Given the description of an element on the screen output the (x, y) to click on. 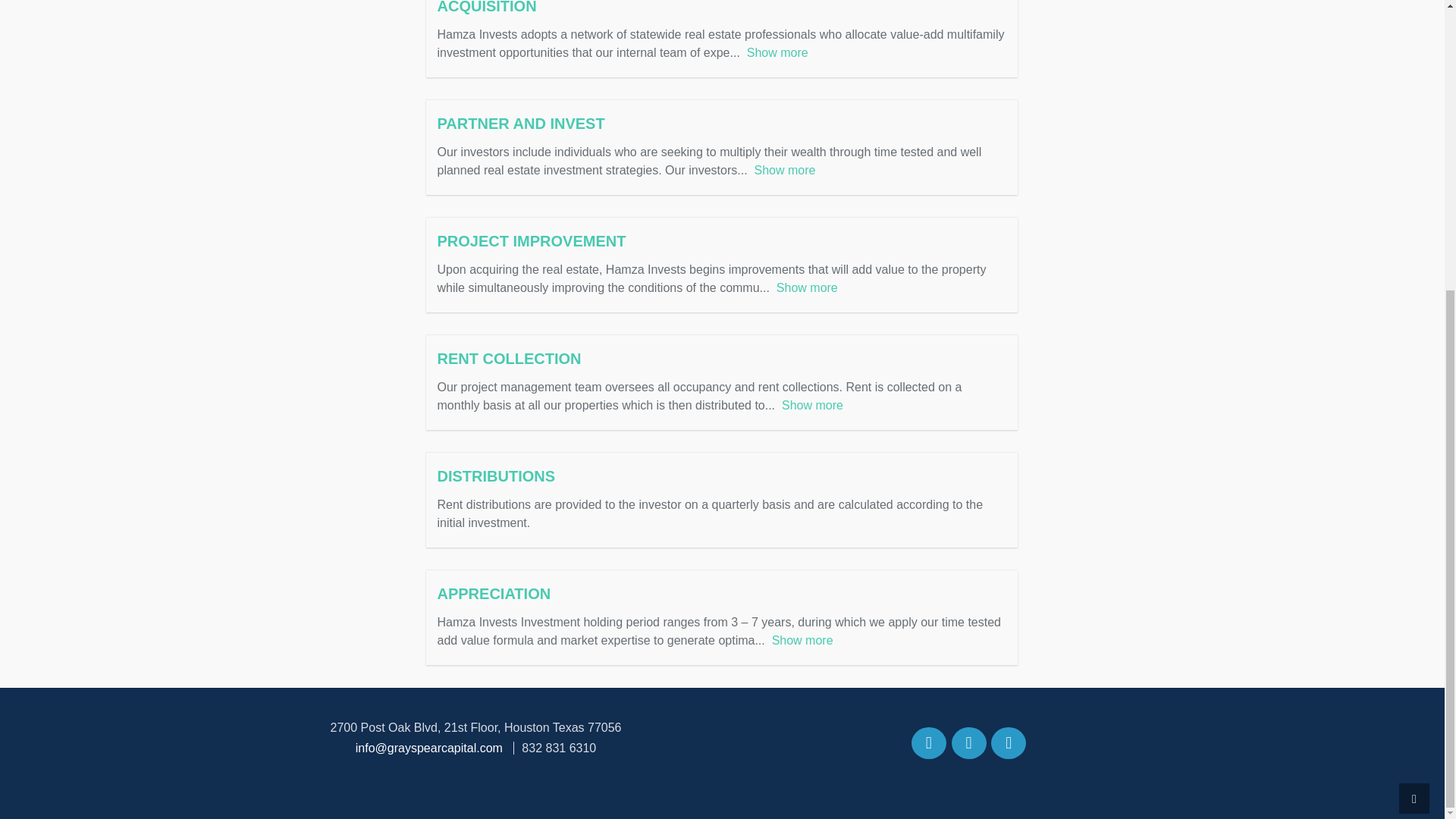
Show more (807, 287)
Show more (812, 404)
Show more (777, 51)
Show more (801, 640)
Show more (784, 169)
